Given the description of an element on the screen output the (x, y) to click on. 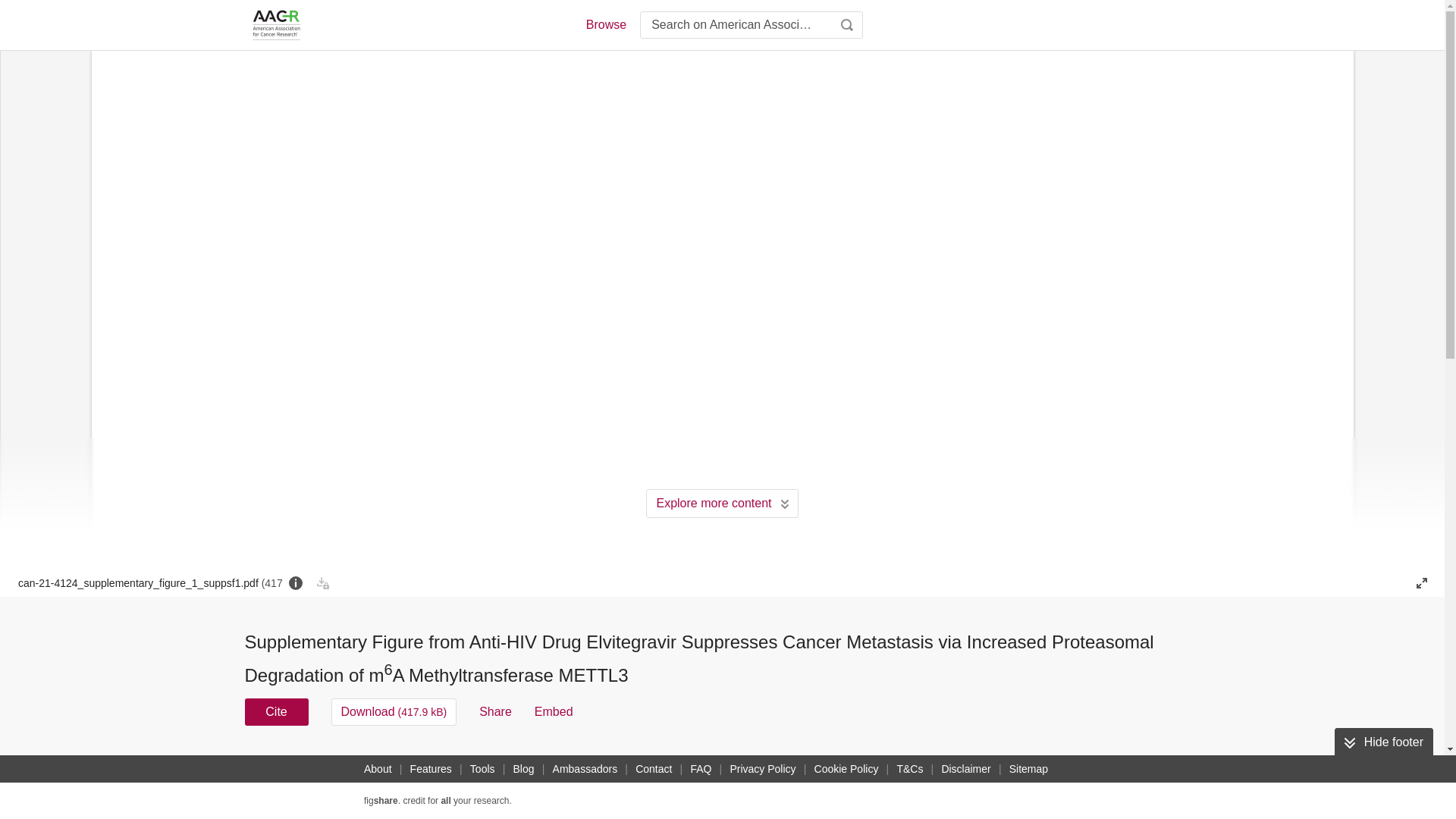
Embed (553, 711)
About (377, 769)
Share (495, 711)
Cookie Policy (846, 769)
FAQ (700, 769)
Features (431, 769)
Cite (275, 711)
Ambassadors (585, 769)
Blog (523, 769)
